Given the description of an element on the screen output the (x, y) to click on. 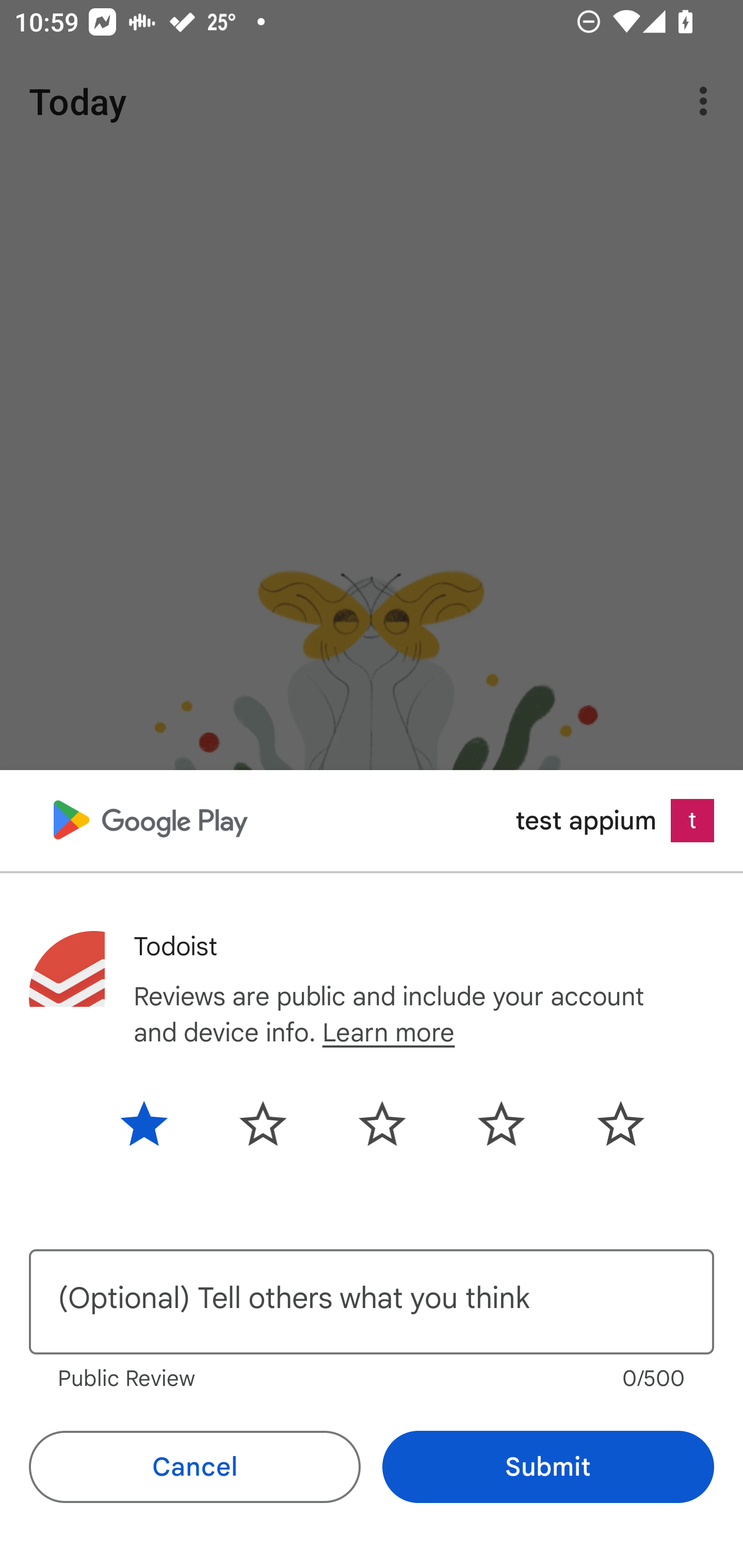
First star selected (159, 1123)
Second star unselected (262, 1123)
Third star unselected (381, 1123)
Fourth star unselected (500, 1123)
Fifth star unselected (604, 1123)
(Optional) Tell others what you think (371, 1301)
Cancel (194, 1466)
Submit (548, 1466)
